Given the description of an element on the screen output the (x, y) to click on. 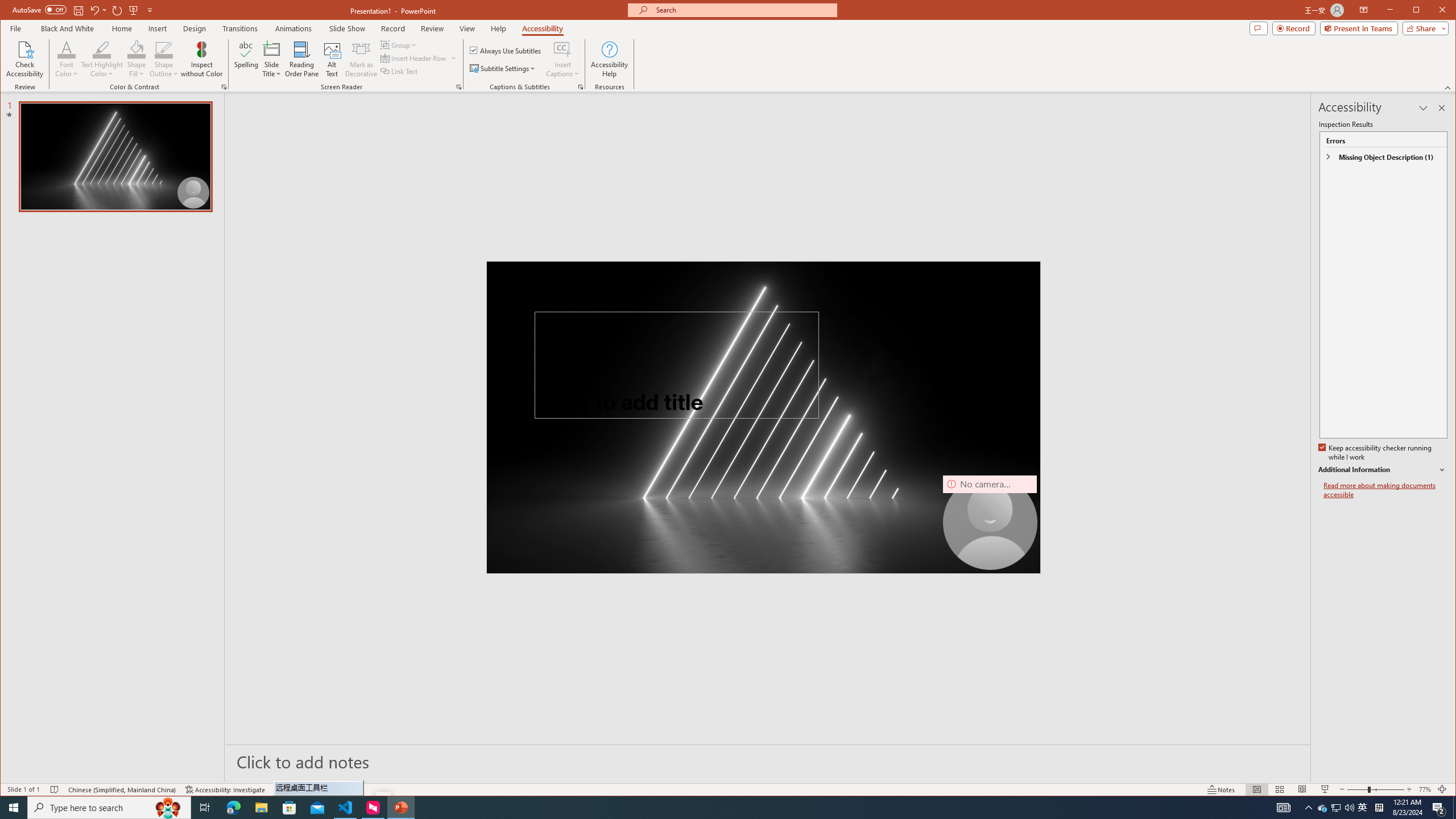
Camera 7, No camera detected. (990, 522)
Captions & Subtitles (580, 86)
